Given the description of an element on the screen output the (x, y) to click on. 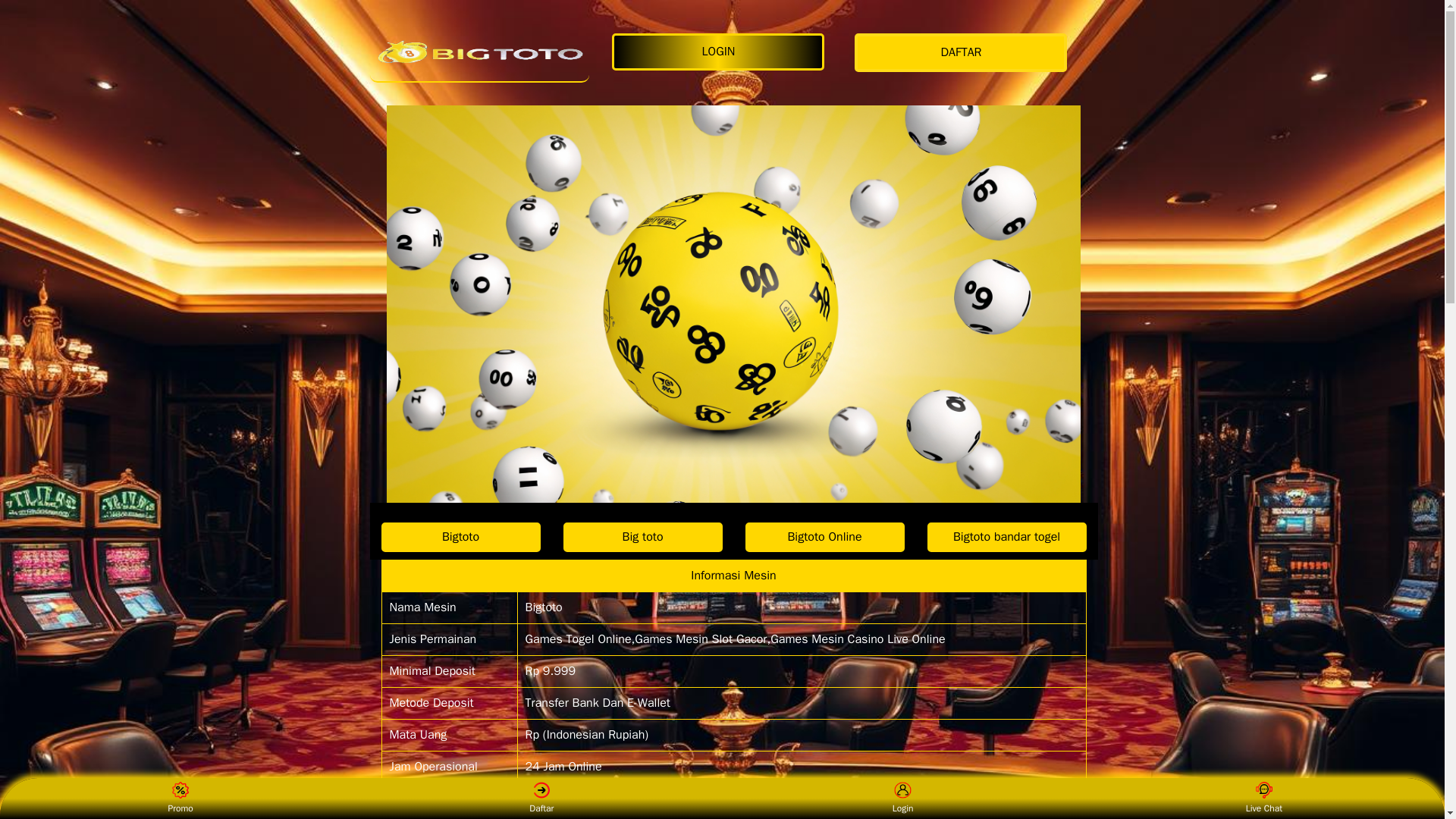
Live Chat (1263, 797)
Daftar (541, 797)
Promo (180, 797)
Big toto (642, 537)
Bigtoto bandar togel (1006, 537)
LOGIN (721, 51)
Bigtoto Online (824, 537)
Bigtoto (460, 537)
Big toto (642, 537)
